Given the description of an element on the screen output the (x, y) to click on. 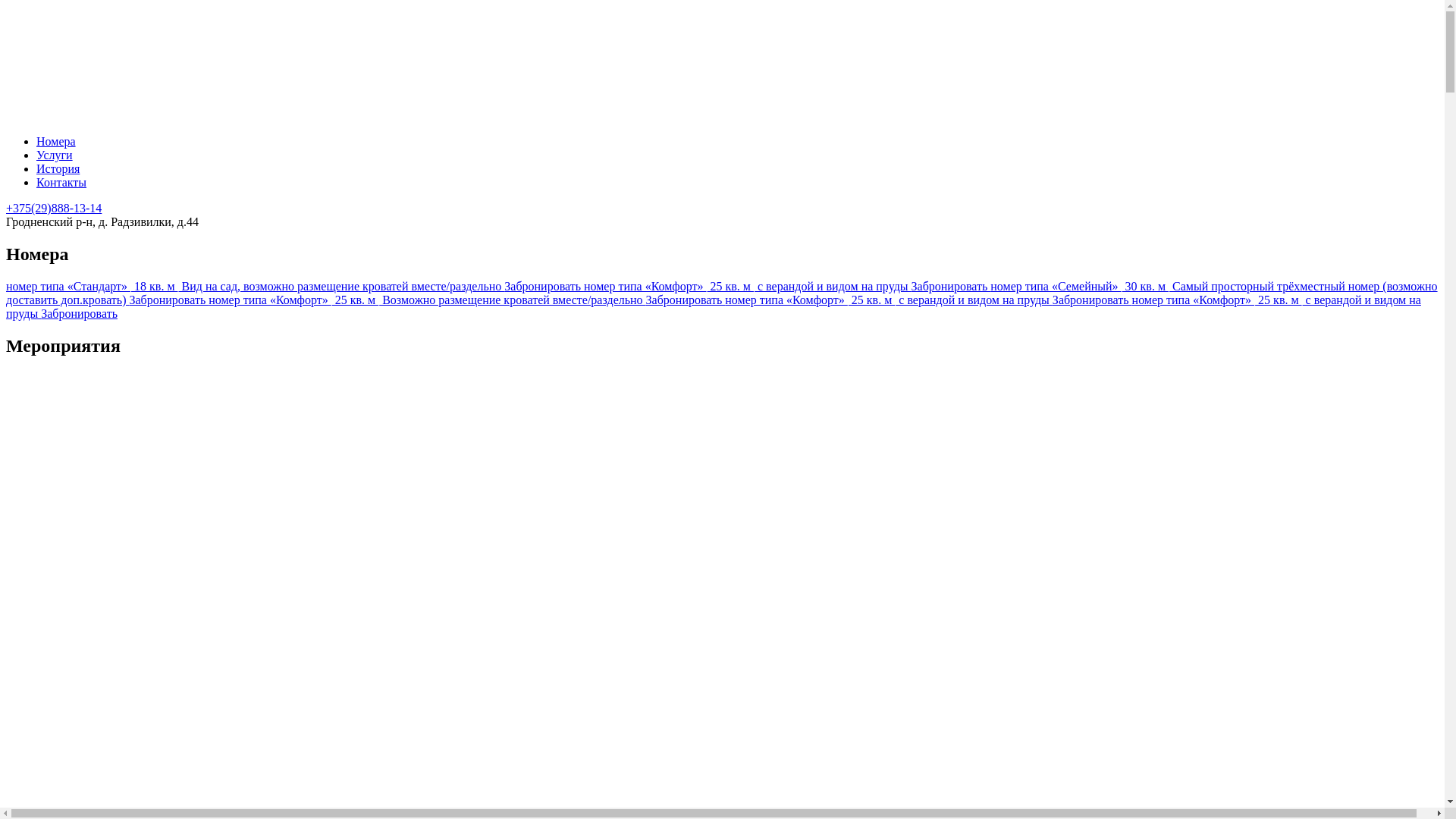
+375(29)888-13-14 Element type: text (53, 207)
